Given the description of an element on the screen output the (x, y) to click on. 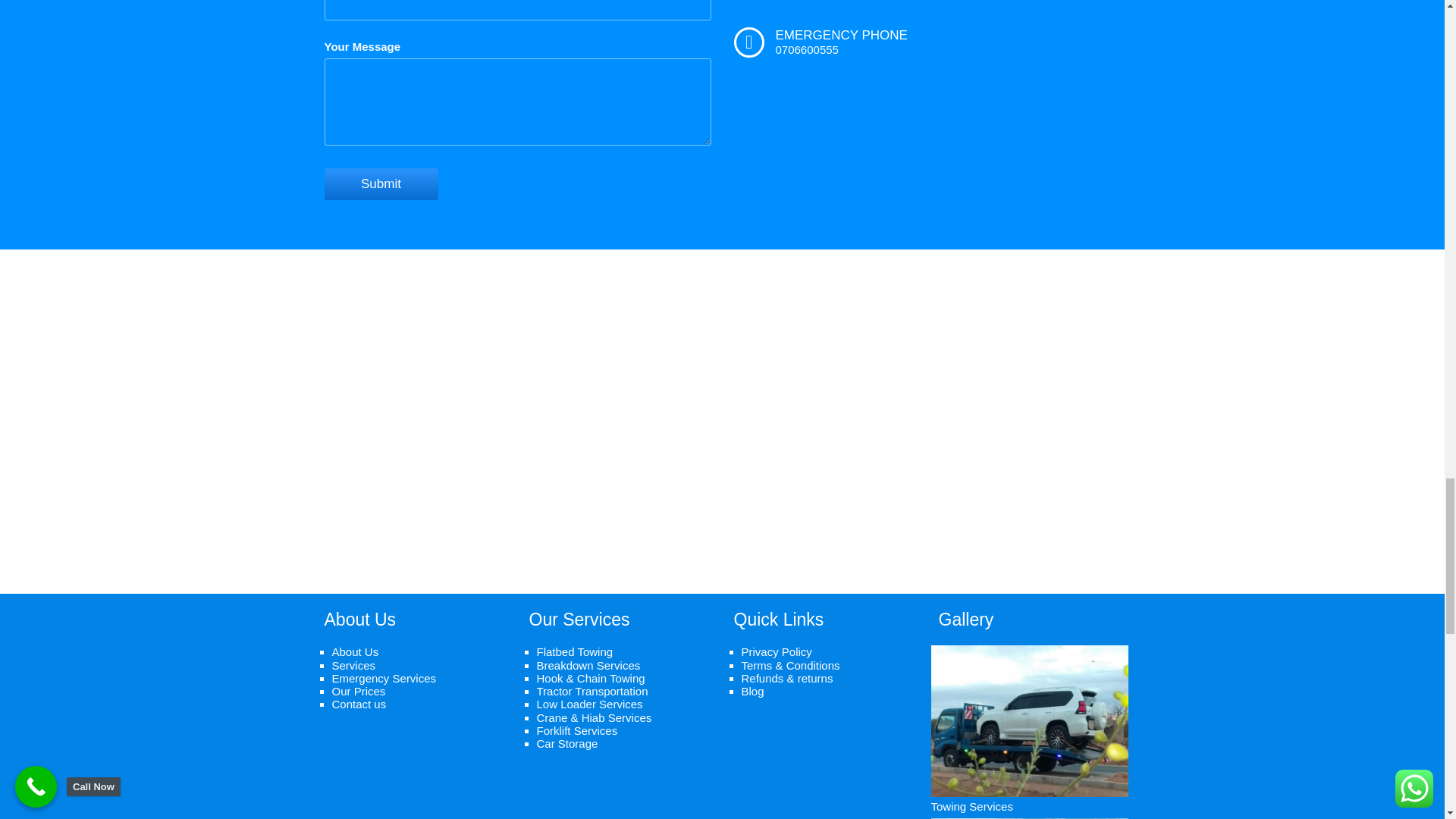
Submit (381, 183)
